Given the description of an element on the screen output the (x, y) to click on. 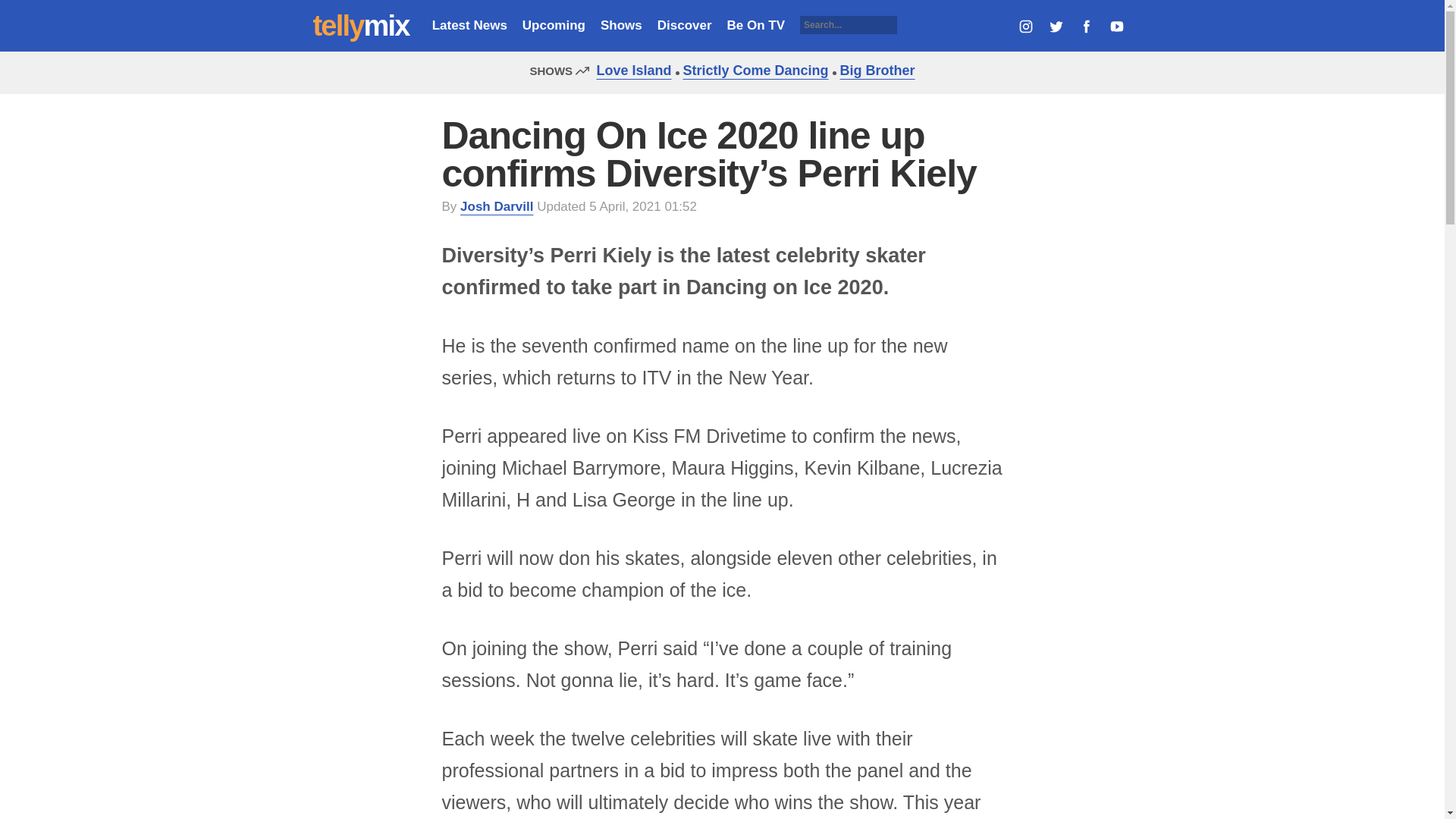
Shows (620, 25)
Upcoming (553, 25)
Love Island (629, 70)
Big Brother (873, 70)
Latest News (469, 25)
Josh Darvill (496, 206)
Discover (684, 25)
Strictly Come Dancing (751, 70)
tellymix (361, 25)
Be On TV (756, 25)
